Given the description of an element on the screen output the (x, y) to click on. 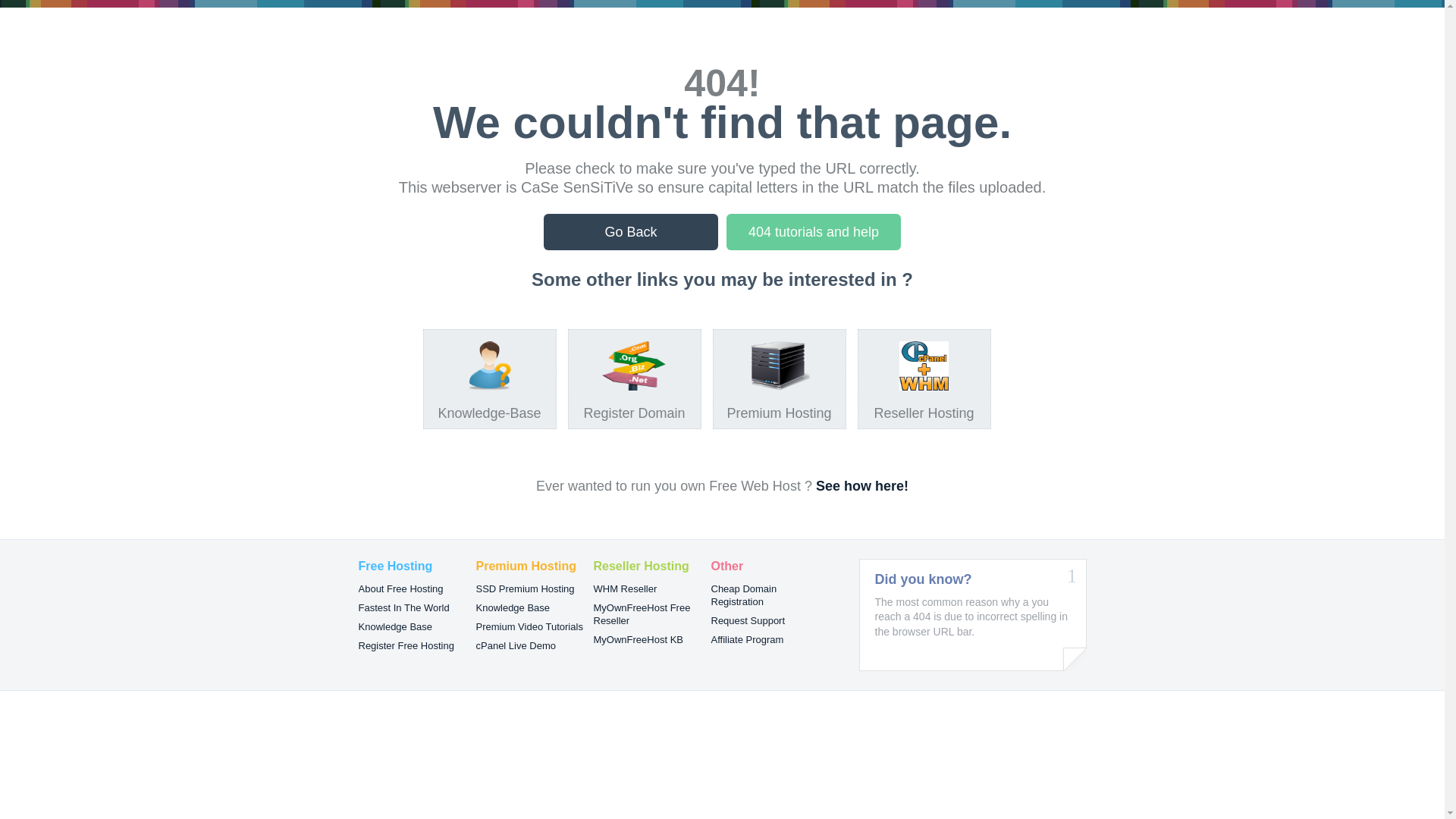
About Free Hosting Element type: text (399, 588)
cPanel Live Demo Element type: text (516, 645)
Request Support Element type: text (748, 620)
Register Free Hosting Element type: text (405, 645)
Knowledge Base Element type: text (394, 626)
Fastest In The World Element type: text (402, 607)
Cheap Domain Registration Element type: text (744, 595)
Knowledge Base Element type: text (513, 607)
MyOwnFreeHost Free Reseller Element type: text (641, 614)
Affiliate Program Element type: text (747, 639)
SSD Premium Hosting Element type: text (525, 588)
404 tutorials and help Element type: text (813, 231)
WHM Reseller Element type: text (624, 588)
Premium Video Tutorials Element type: text (529, 626)
Go Back Element type: text (630, 231)
MyOwnFreeHost KB Element type: text (637, 639)
See how here! Element type: text (861, 485)
